Given the description of an element on the screen output the (x, y) to click on. 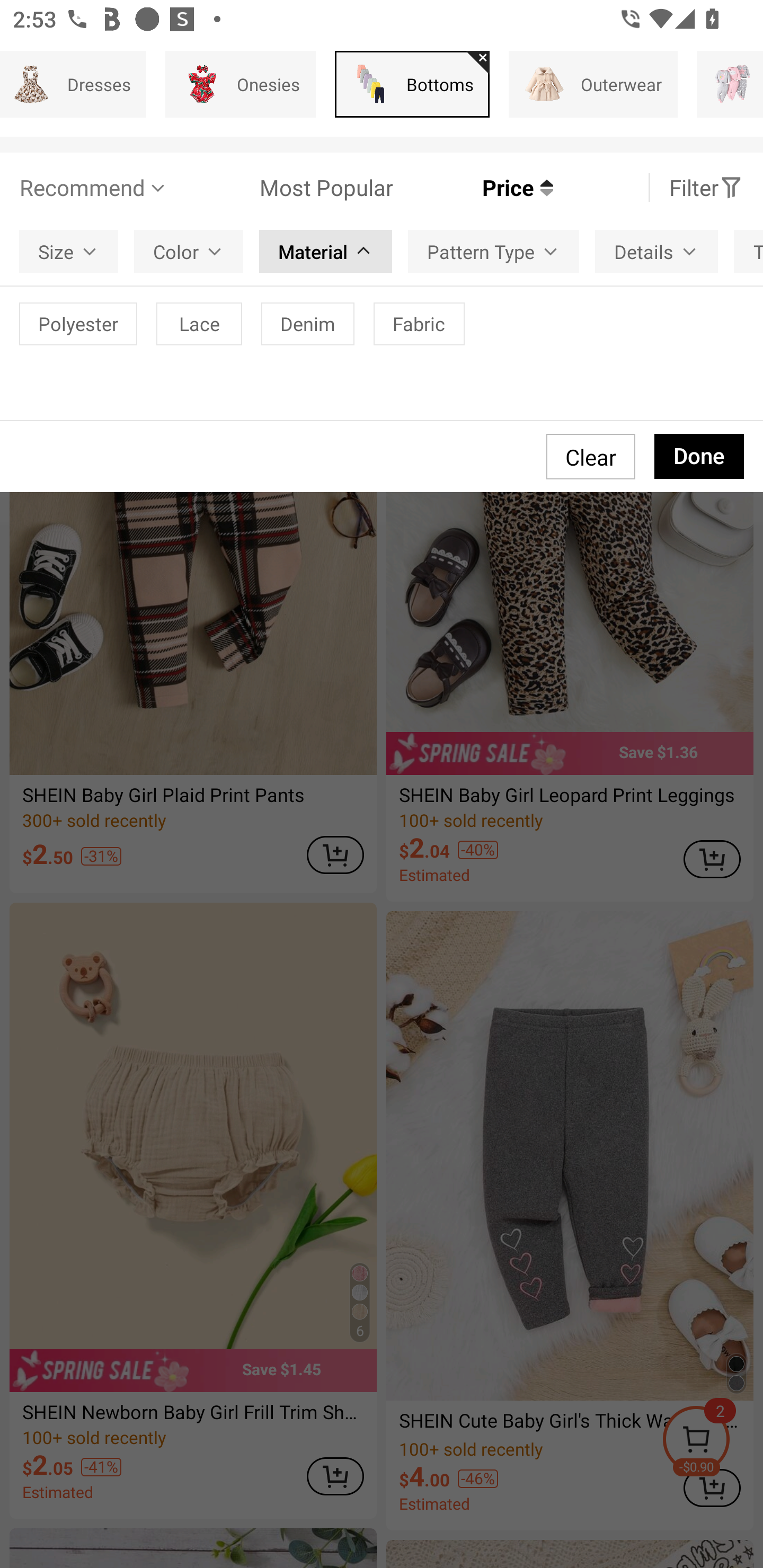
Dresses (73, 83)
Onesies (240, 83)
Bottoms (411, 83)
Outerwear (592, 83)
Recommend (93, 187)
Most Popular (280, 187)
Price (472, 187)
Filter (705, 187)
Size (68, 251)
Color (188, 251)
Material (325, 251)
Pattern Type (493, 251)
Details (656, 251)
